Given the description of an element on the screen output the (x, y) to click on. 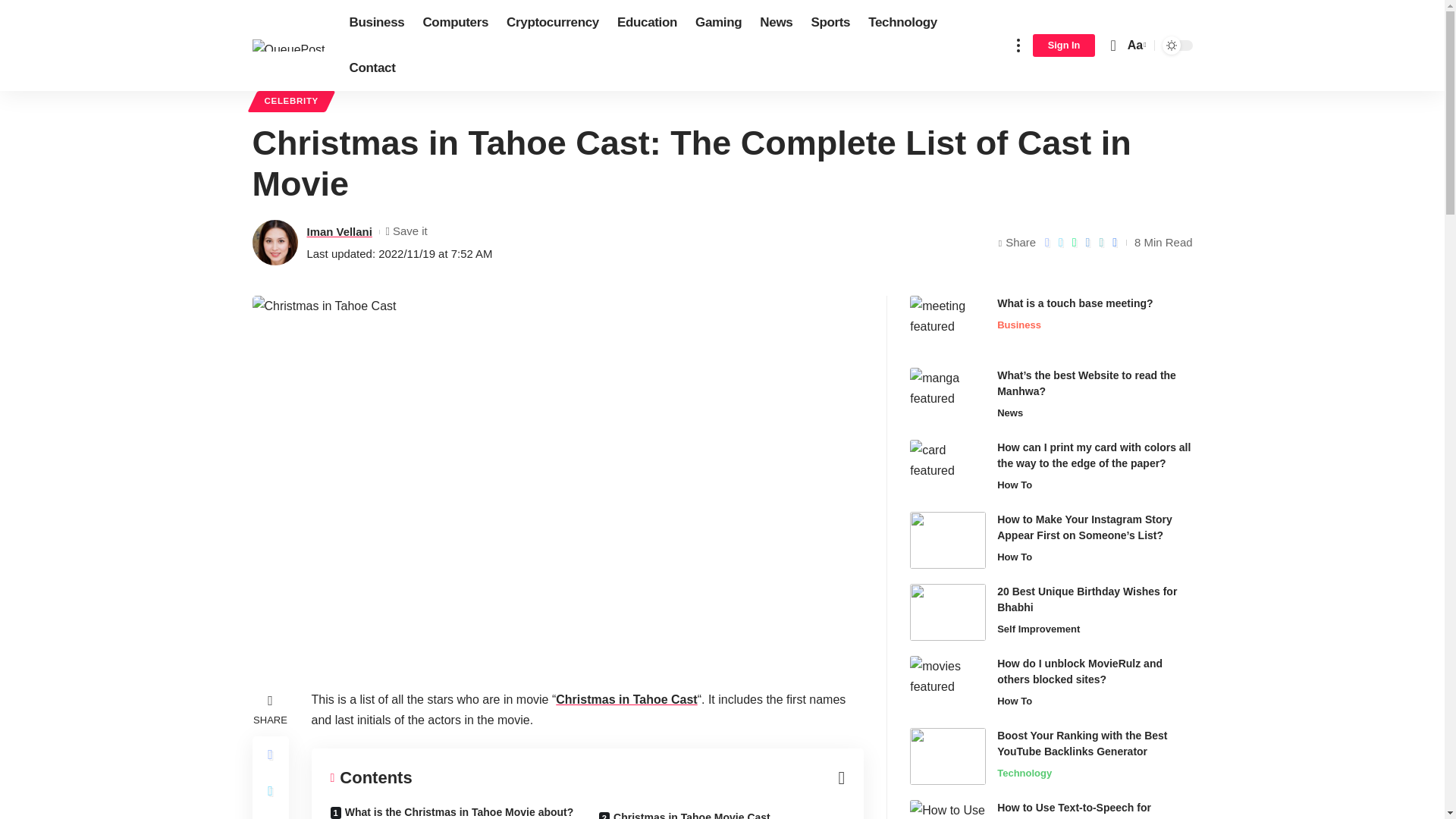
Contact (372, 67)
Boost Your Ranking with the Best YouTube Backlinks Generator (947, 756)
Aa (1135, 45)
Sports (830, 22)
Sign In (1064, 45)
Technology (902, 22)
QueuePost (287, 44)
What is a touch base meeting? (947, 323)
Computers (455, 22)
